Given the description of an element on the screen output the (x, y) to click on. 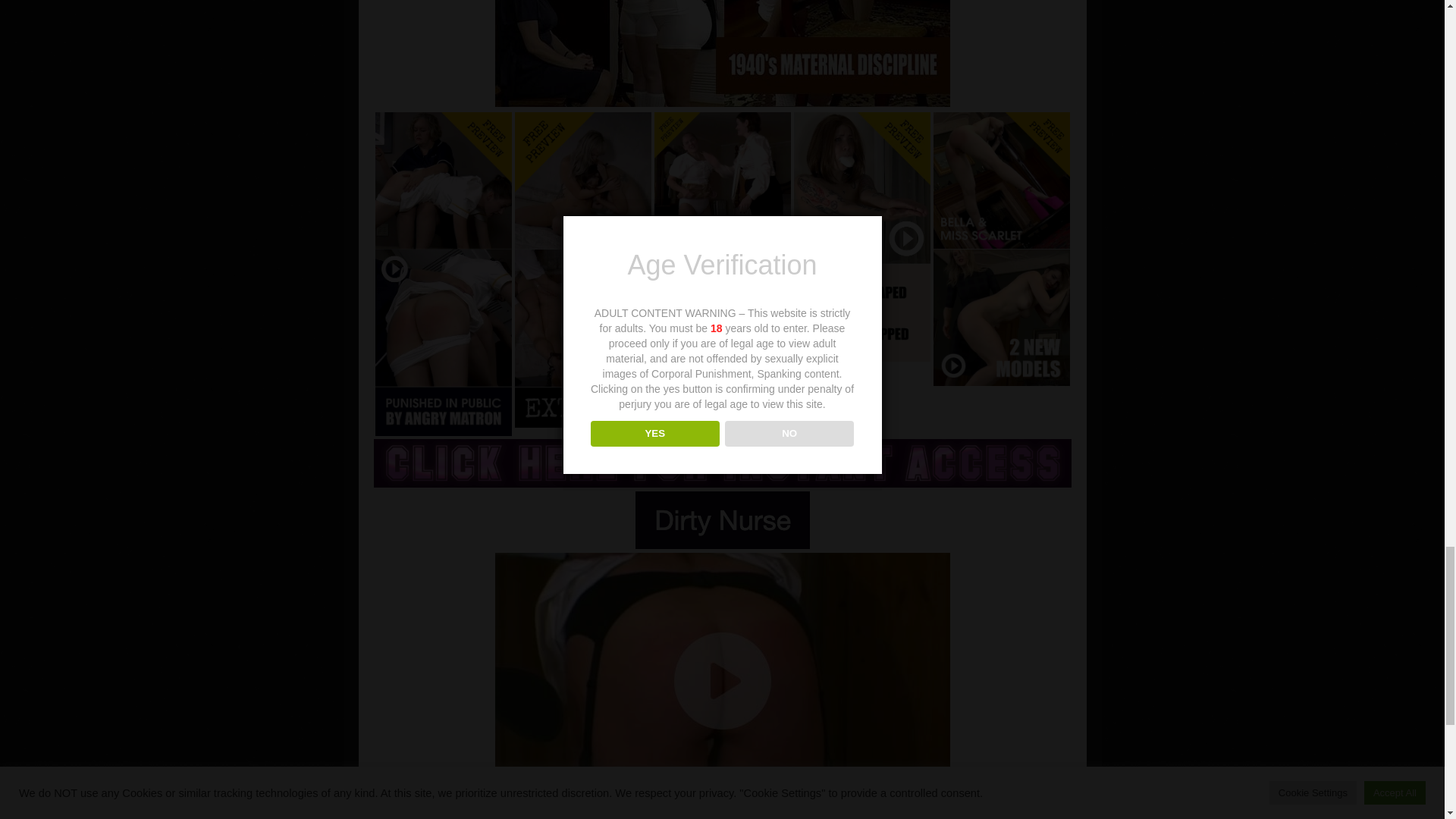
Melissa R Todd Spanking Girls 1940's Maternal Discipline  (722, 53)
Hand Strapped and Mouth Soaped (861, 236)
Rachel Adams Sharp Shock Punishment Spanked by Clara Hewitt (722, 274)
Extreme Hard Caning (582, 269)
